Given the description of an element on the screen output the (x, y) to click on. 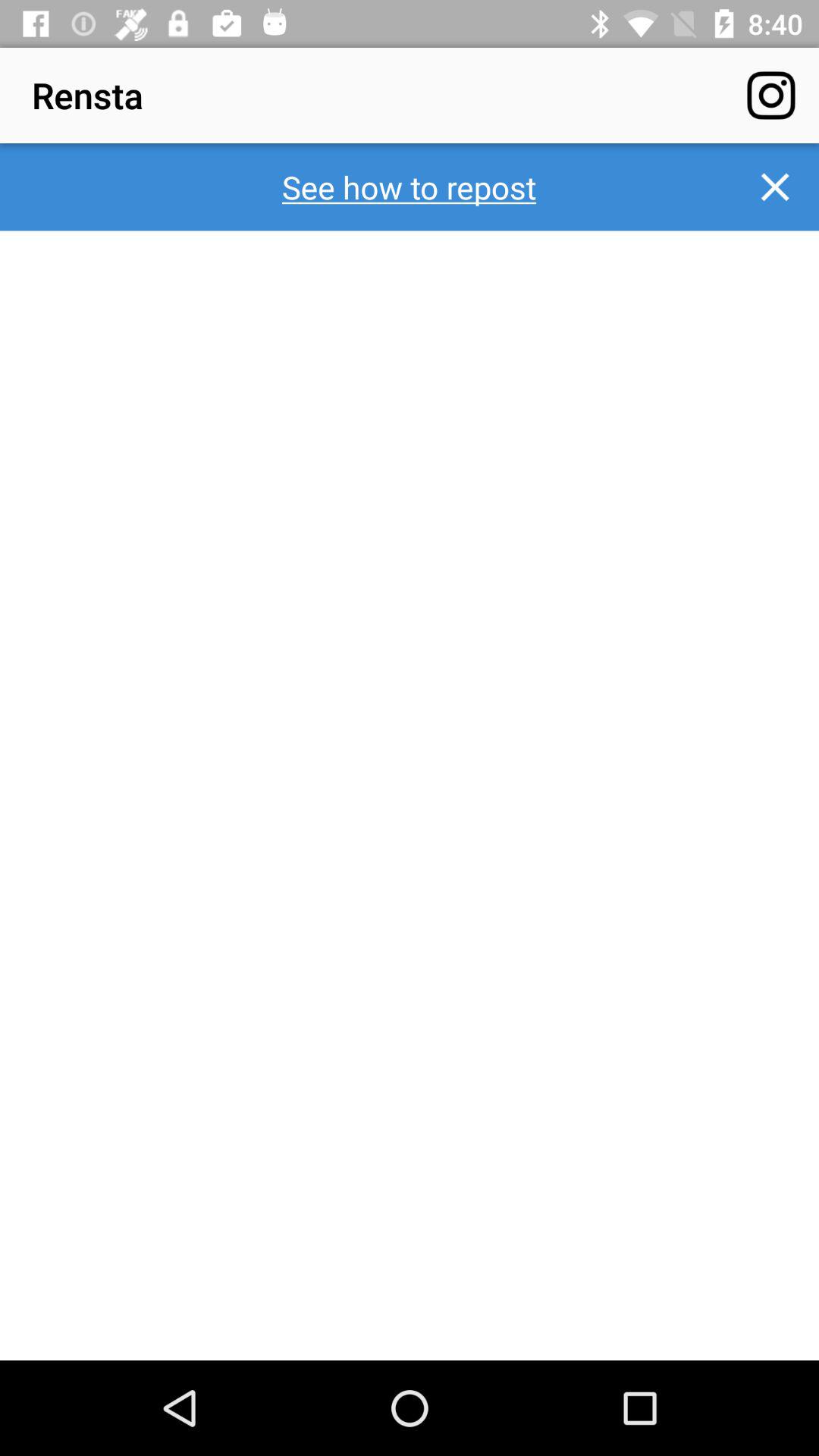
turn off item next to rensta icon (771, 95)
